Given the description of an element on the screen output the (x, y) to click on. 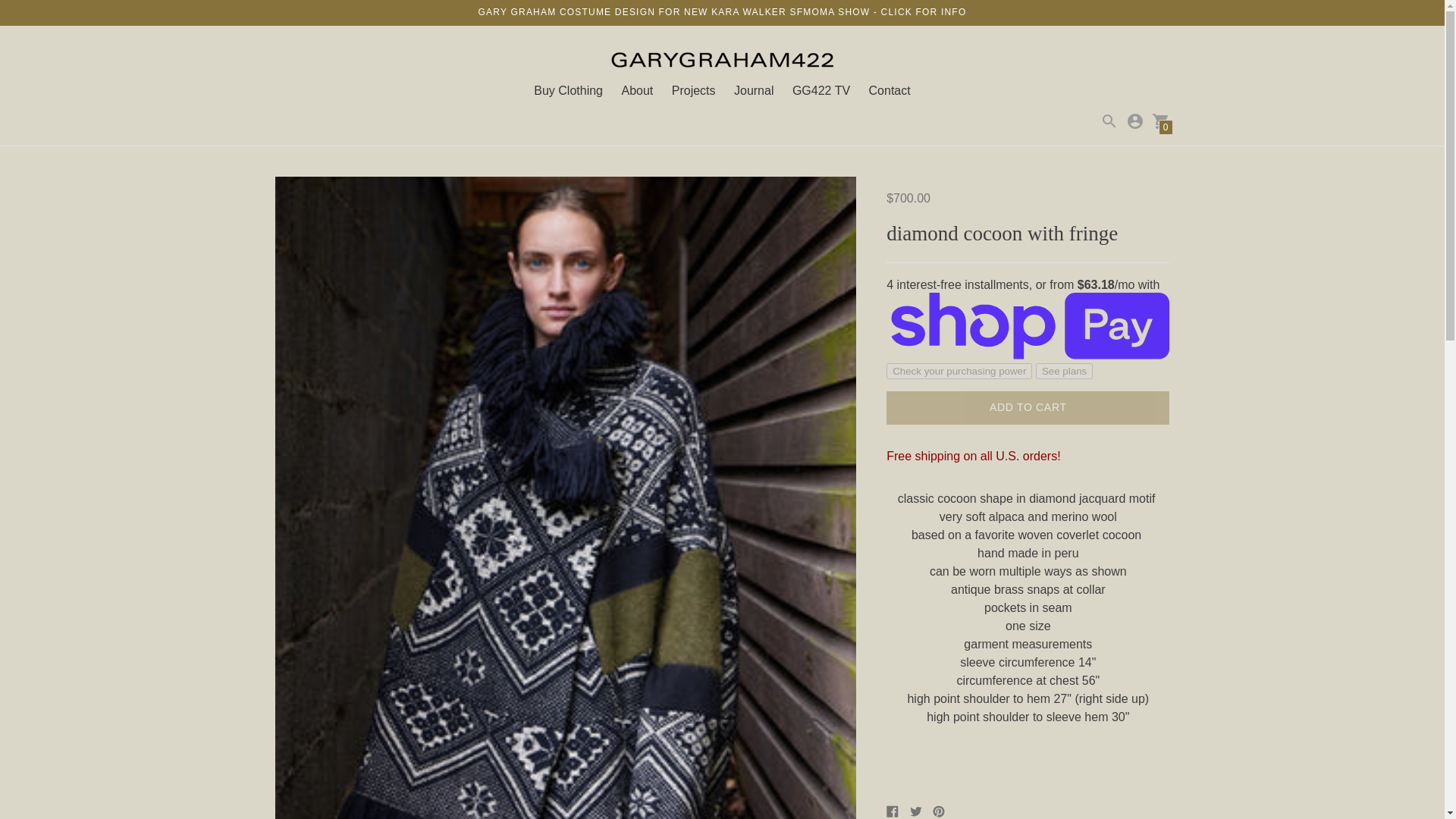
Contact (890, 90)
GG422 TV (821, 90)
Projects (693, 90)
Buy Clothing (568, 90)
Journal (753, 90)
About (636, 90)
